Given the description of an element on the screen output the (x, y) to click on. 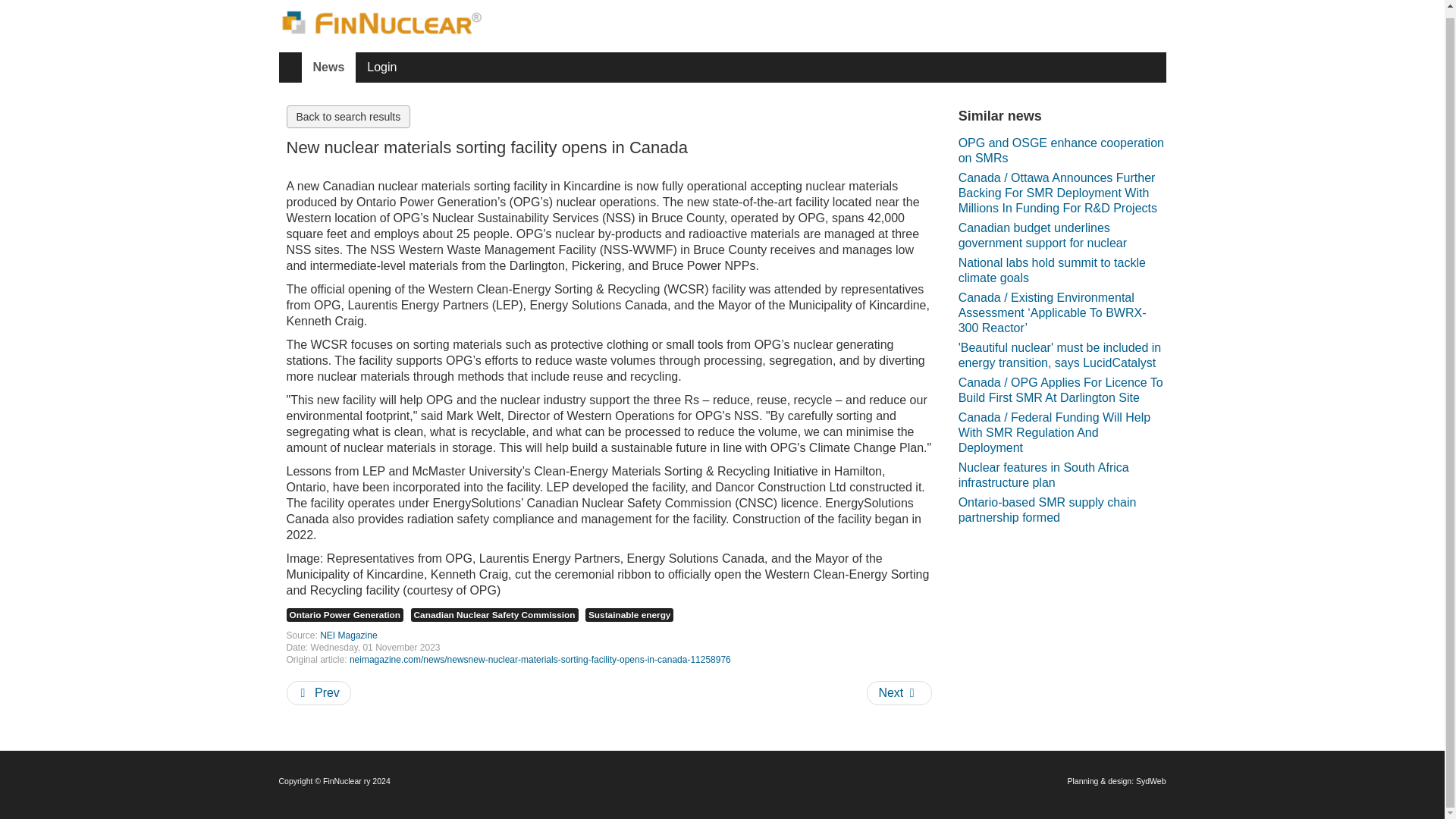
News (328, 67)
Ontario-based SMR supply chain partnership formed (1062, 510)
Back to search results (348, 116)
OPG and OSGE enhance cooperation on SMRs (1062, 150)
Ontario Power Generation (345, 614)
Prev (318, 692)
SydWeb (1150, 780)
Canadian Nuclear Safety Commission (494, 614)
Next (898, 692)
Login (381, 67)
National labs hold summit to tackle climate goals (1062, 270)
Sustainable energy (628, 614)
Nuclear features in South Africa infrastructure plan (1062, 475)
NEI Magazine (348, 634)
